Given the description of an element on the screen output the (x, y) to click on. 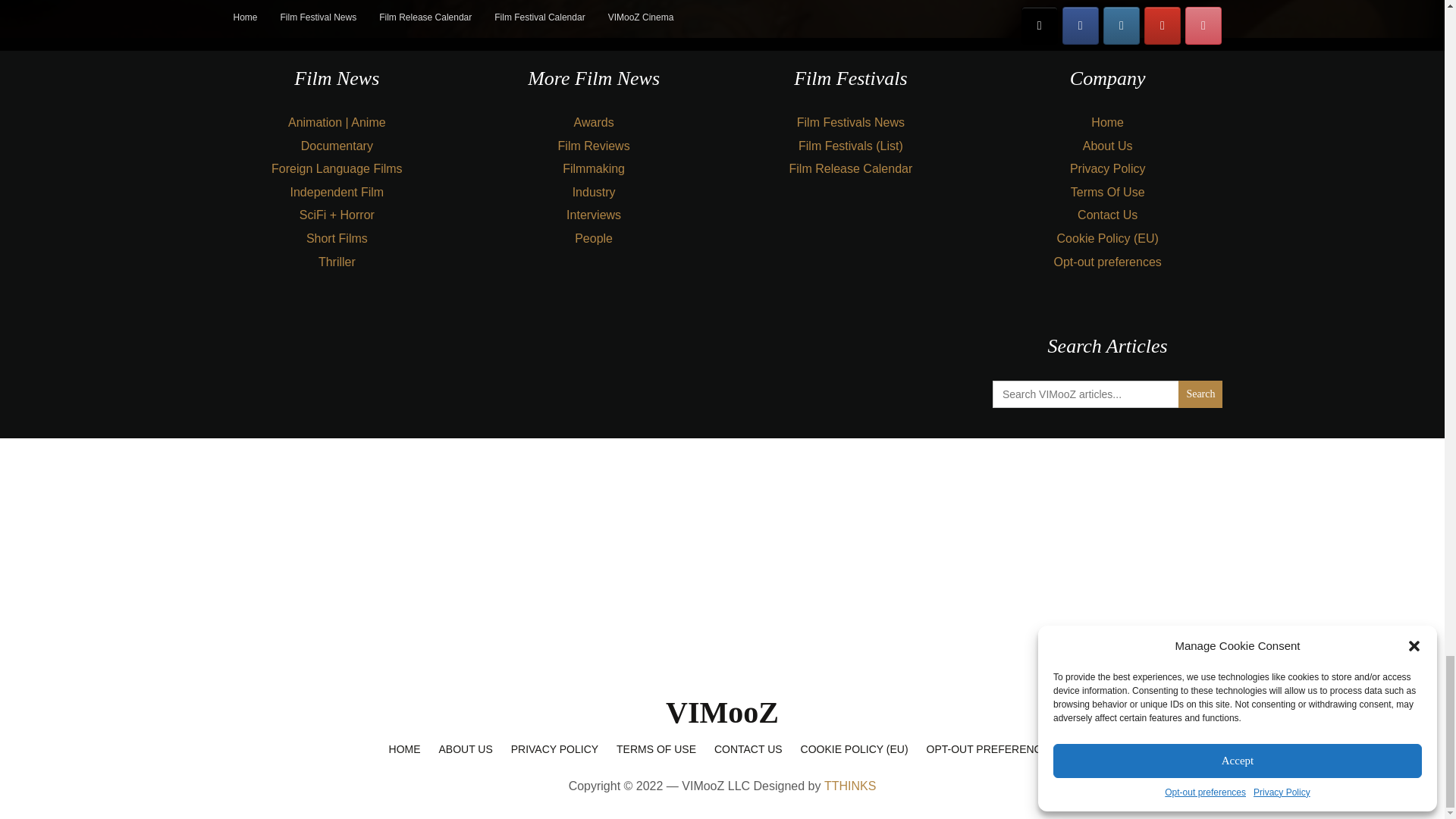
Search (1200, 393)
Search (1200, 393)
